Given the description of an element on the screen output the (x, y) to click on. 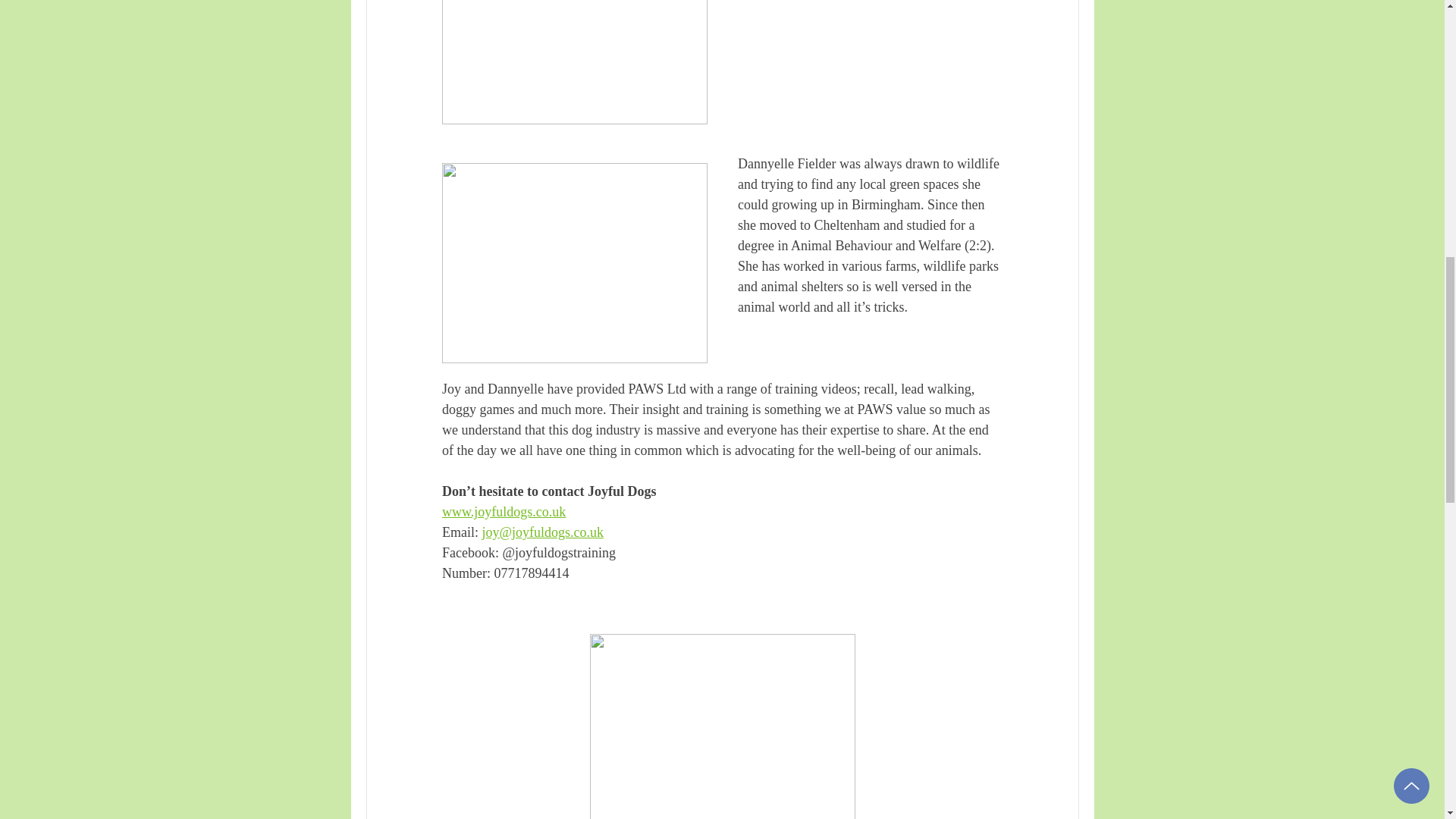
www.joyfuldogs.co.uk (502, 511)
